Given the description of an element on the screen output the (x, y) to click on. 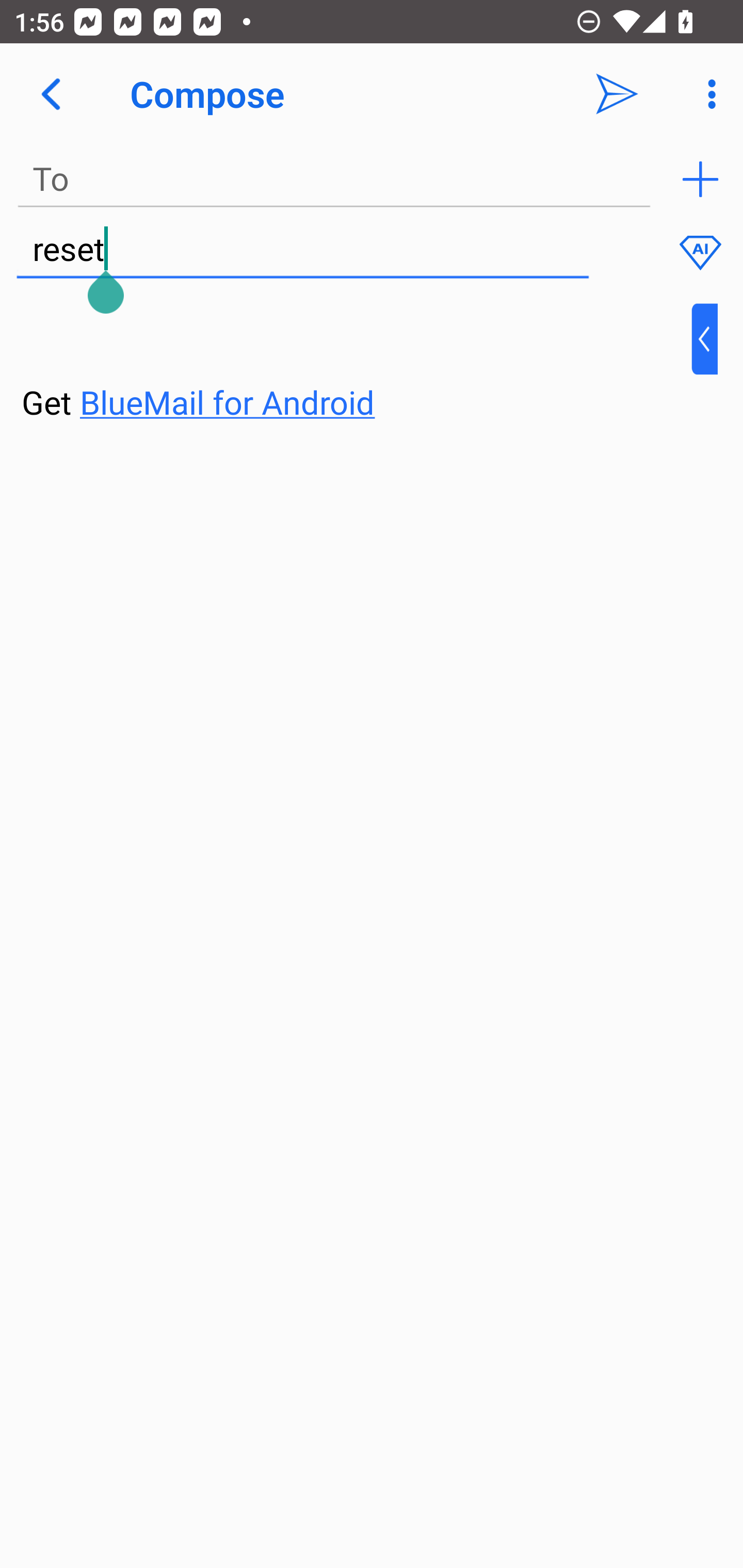
Navigate up (50, 93)
Send (616, 93)
More Options (706, 93)
To (334, 179)
Add recipient (To) (699, 179)
reset (302, 249)


⁣Get BlueMail for Android ​ (355, 363)
